Given the description of an element on the screen output the (x, y) to click on. 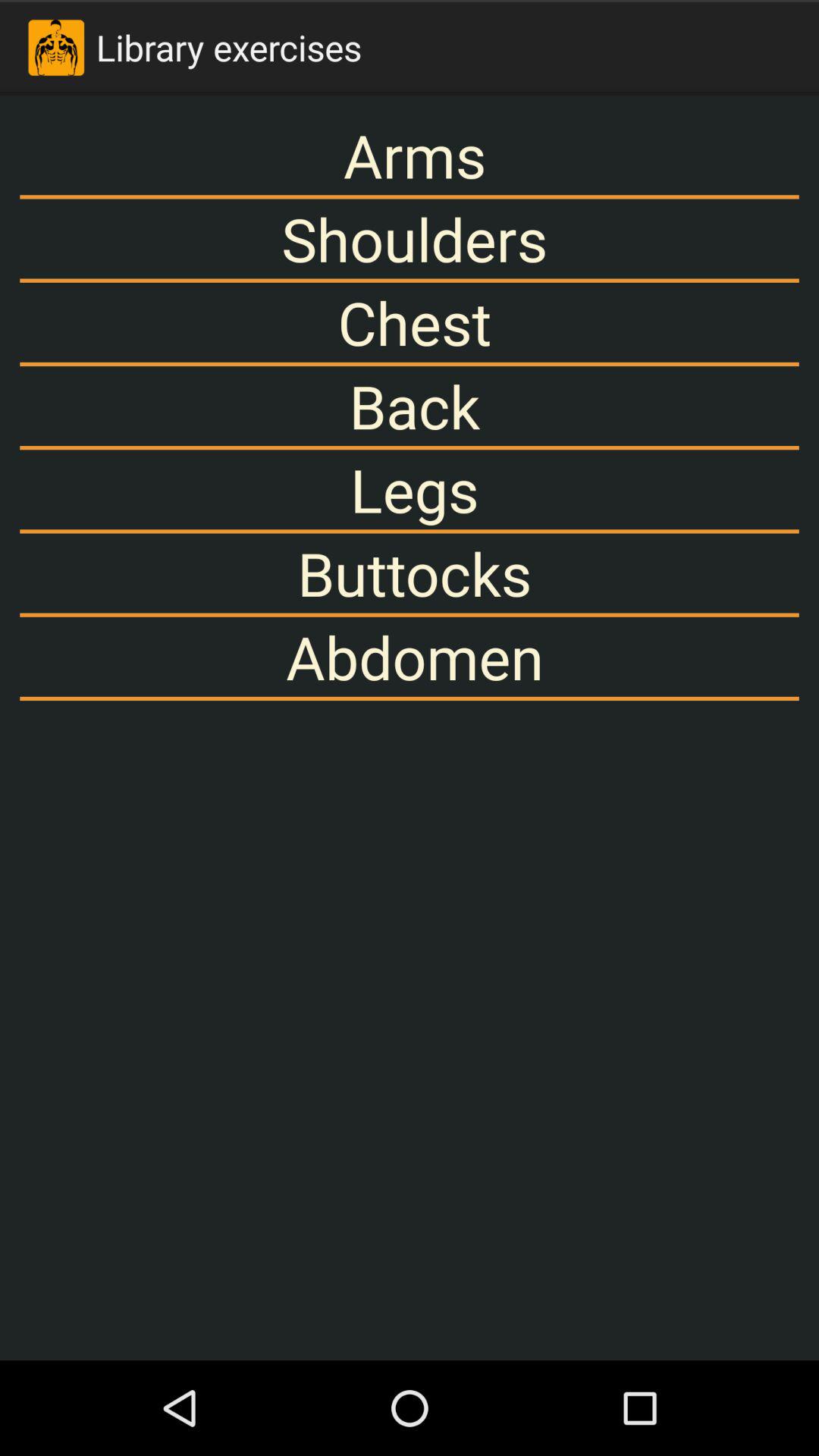
swipe until abdomen (409, 656)
